Given the description of an element on the screen output the (x, y) to click on. 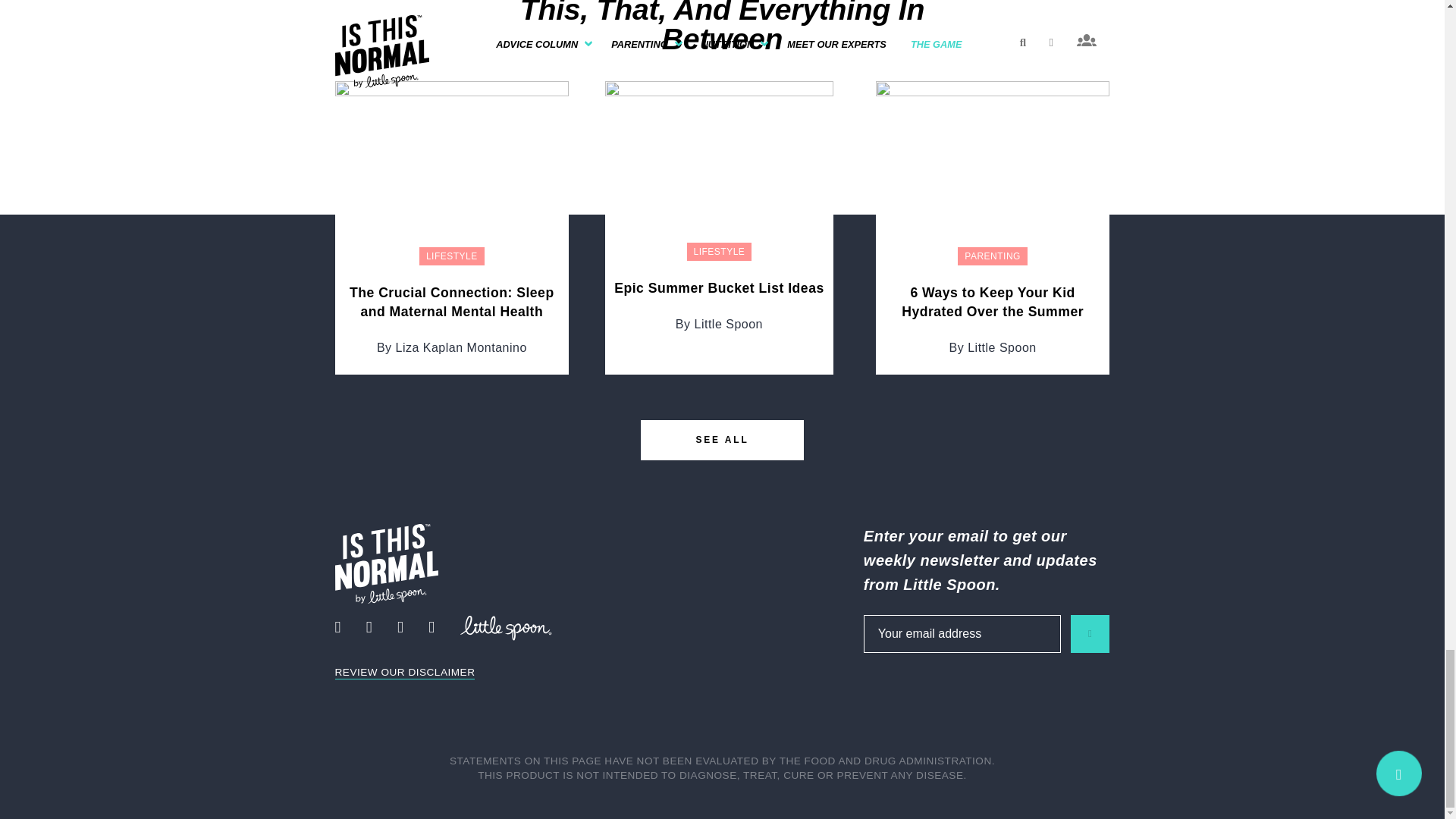
The Crucial Connection: Sleep and Maternal Mental Health (451, 168)
